Given the description of an element on the screen output the (x, y) to click on. 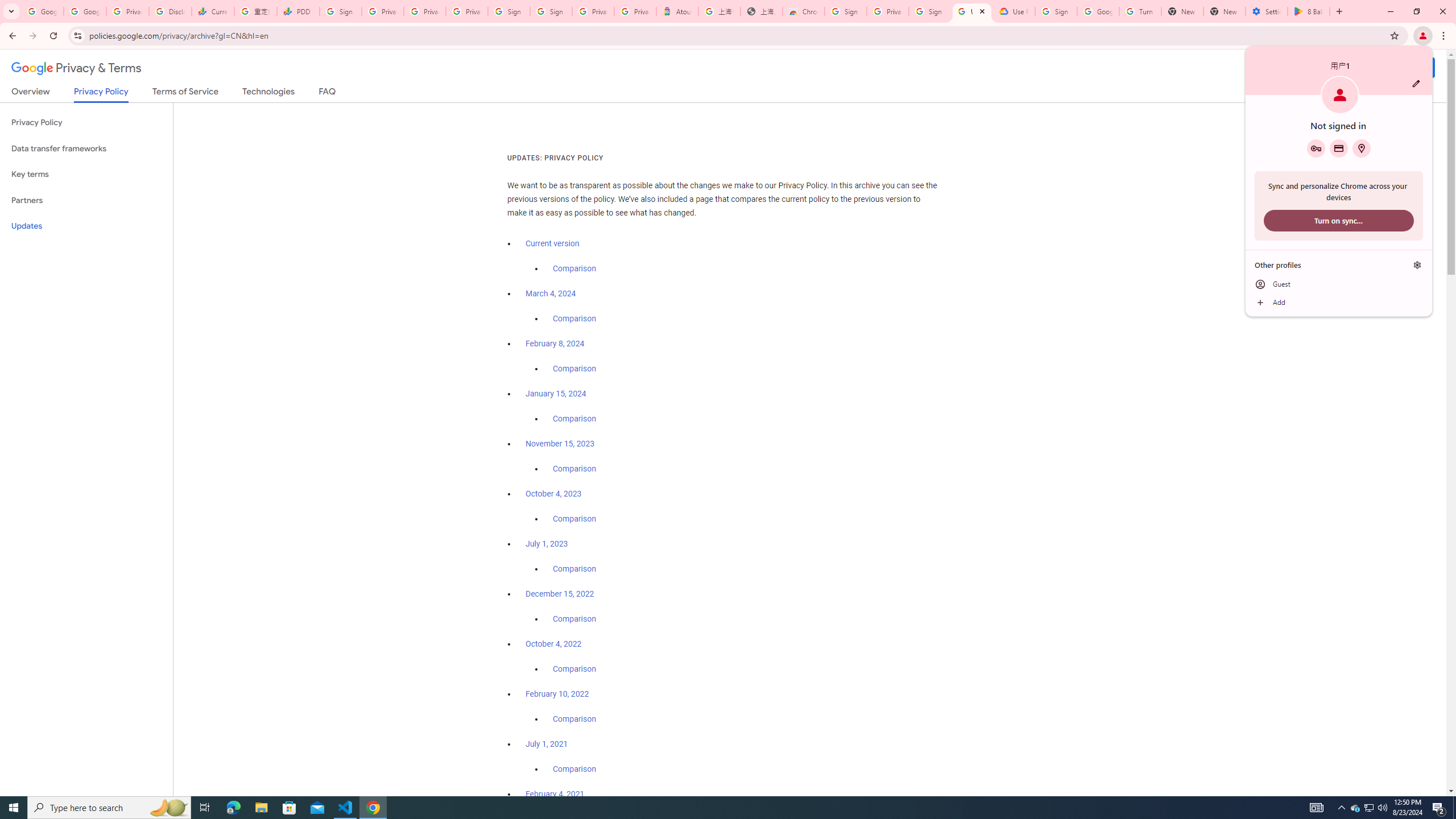
Show desktop (1454, 807)
User Promoted Notification Area (1368, 807)
Technologies (268, 93)
Sign in - Google Accounts (930, 11)
8 Ball Pool - Apps on Google Play (1308, 11)
Google Account Help (1097, 11)
Running applications (717, 807)
Current version (552, 243)
Comparison (574, 768)
Add (1338, 302)
Overview (30, 93)
